Given the description of an element on the screen output the (x, y) to click on. 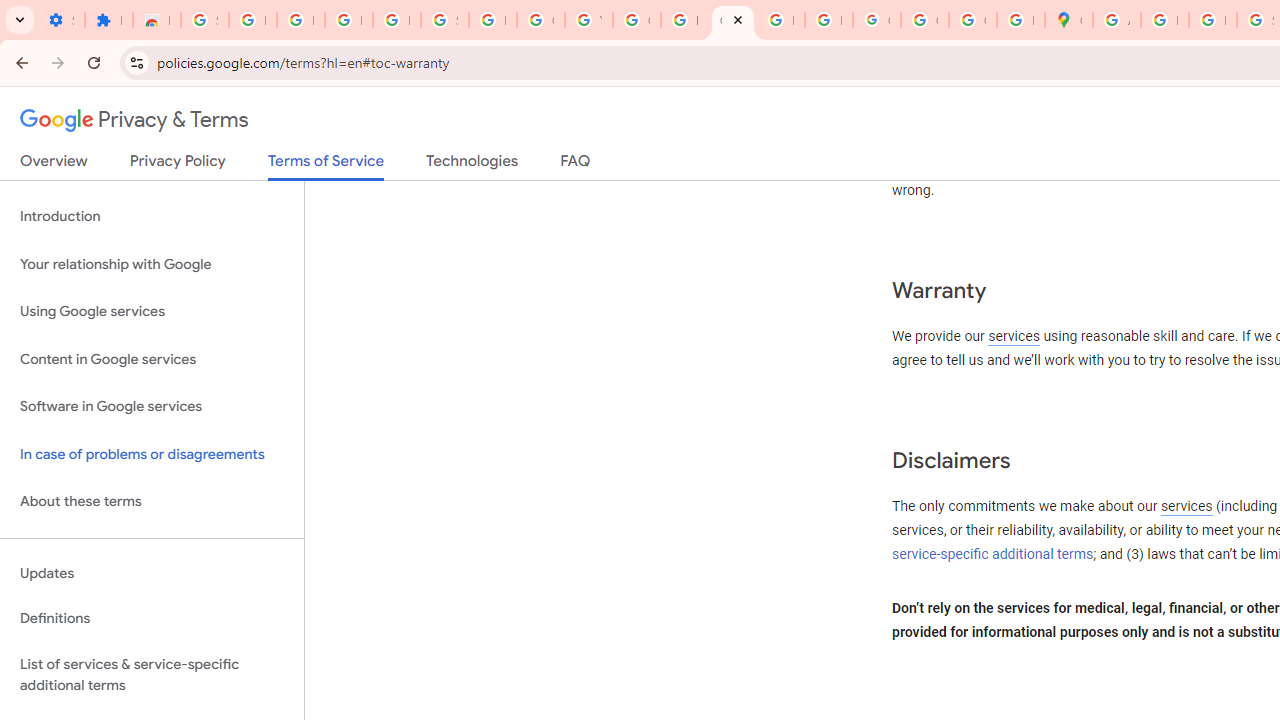
Terms of Service (326, 166)
About these terms (152, 502)
Privacy & Terms (134, 120)
